Given the description of an element on the screen output the (x, y) to click on. 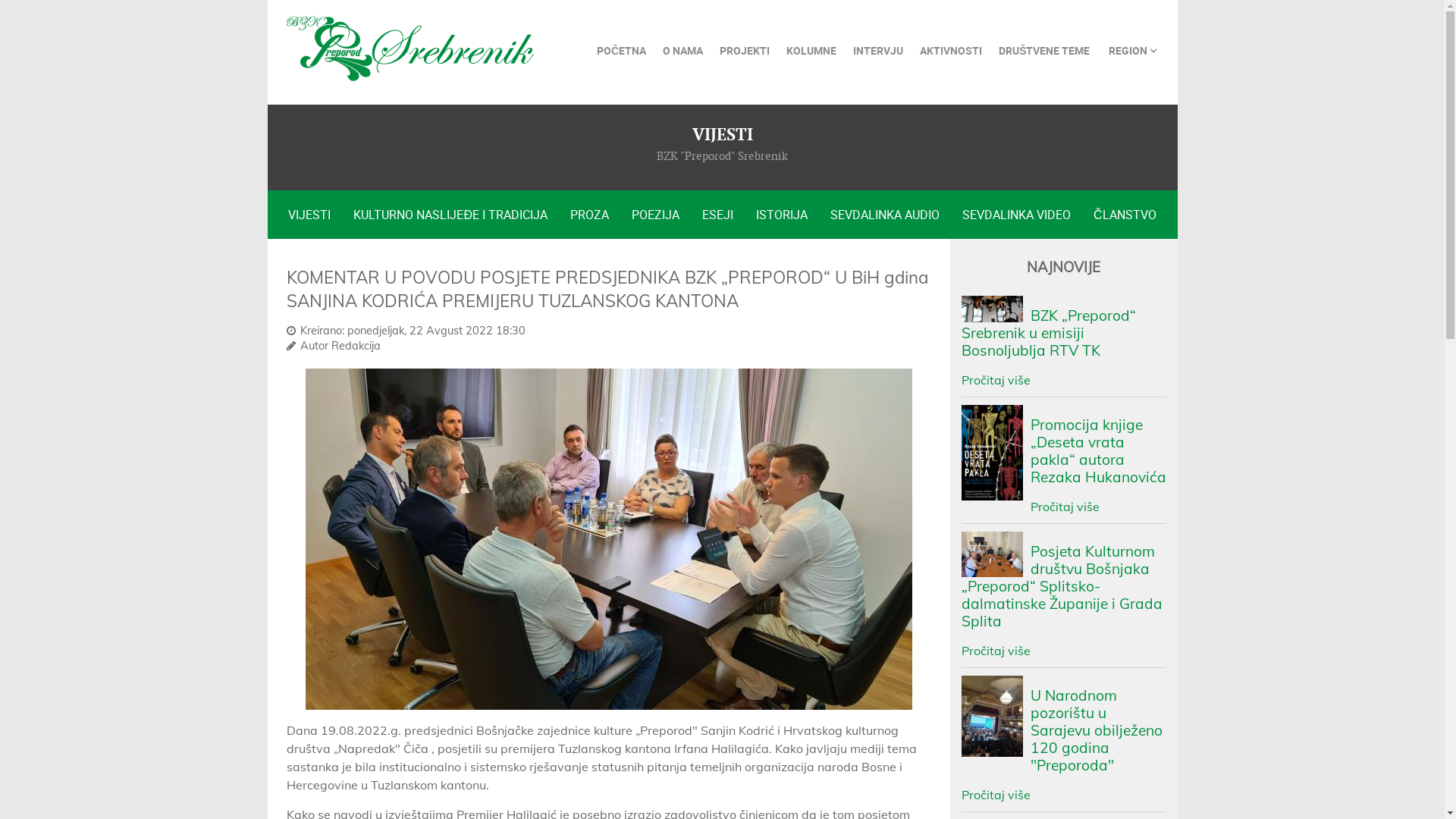
ISTORIJA Element type: text (781, 214)
KOLUMNE Element type: text (811, 50)
PROJEKTI Element type: text (744, 50)
INTERVJU Element type: text (877, 50)
POEZIJA Element type: text (655, 214)
SEVDALINKA VIDEO Element type: text (1016, 214)
ESEJI Element type: text (717, 214)
REGION Element type: text (1132, 50)
O NAMA Element type: text (682, 50)
AKTIVNOSTI Element type: text (950, 50)
SEVDALINKA AUDIO Element type: text (884, 214)
VIJESTI Element type: text (309, 214)
PROZA Element type: text (589, 214)
